Given the description of an element on the screen output the (x, y) to click on. 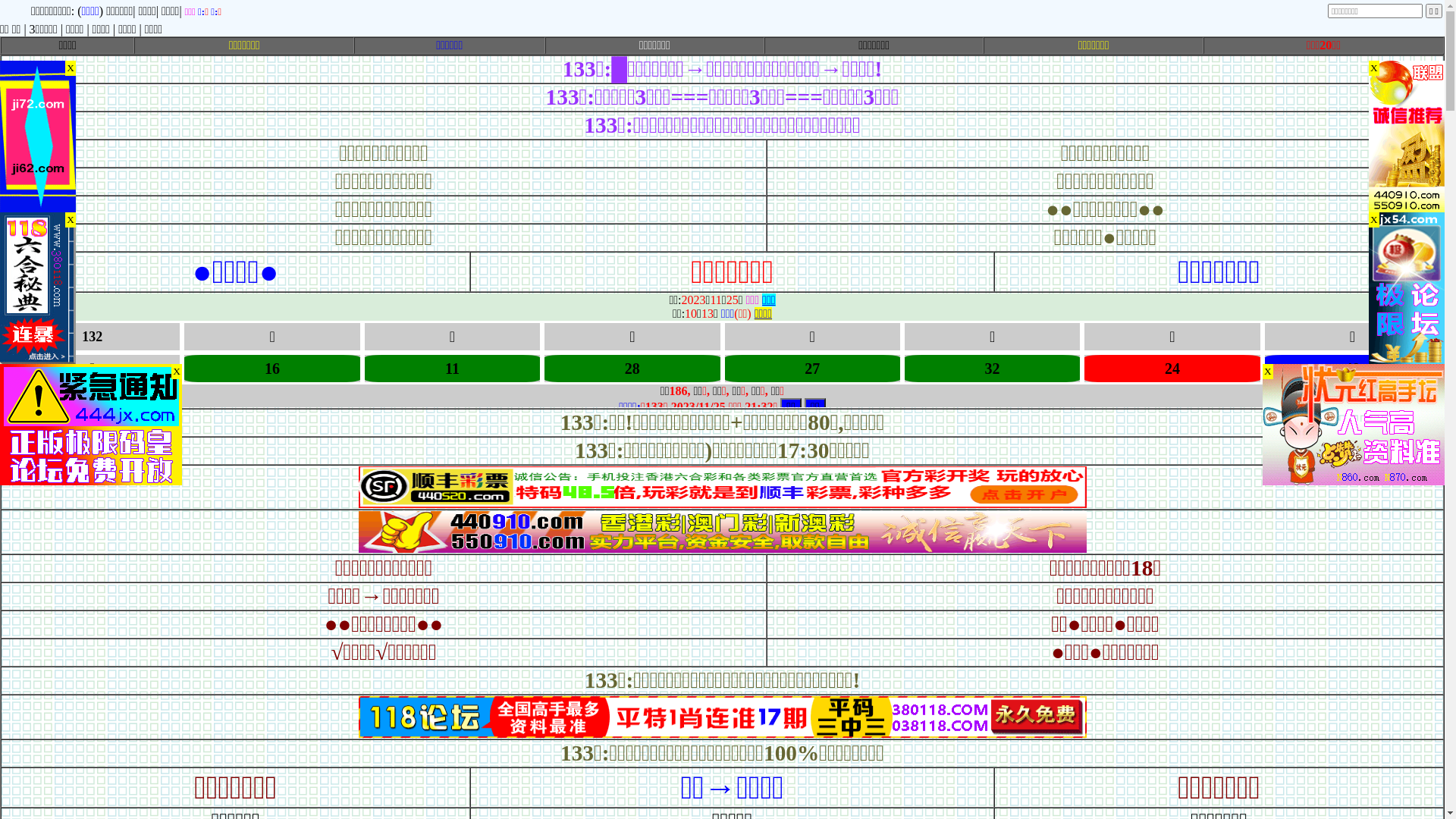
X Element type: text (1373, 67)
X Element type: text (1267, 371)
X Element type: text (1373, 219)
X Element type: text (176, 371)
X Element type: text (70, 219)
X Element type: text (70, 67)
00.00 Element type: hover (721, 733)
